Given the description of an element on the screen output the (x, y) to click on. 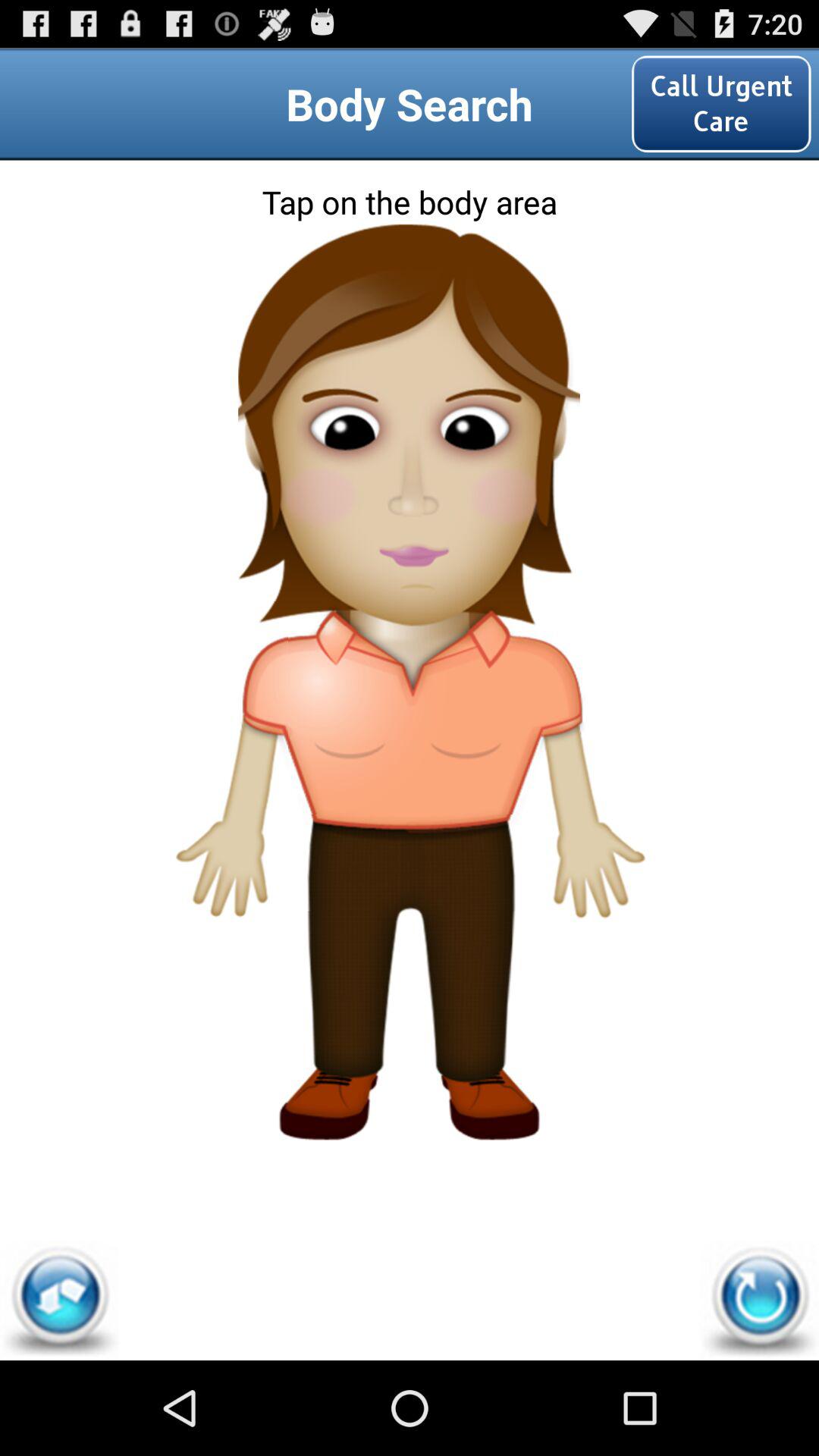
launch the icon at the bottom (409, 1025)
